Given the description of an element on the screen output the (x, y) to click on. 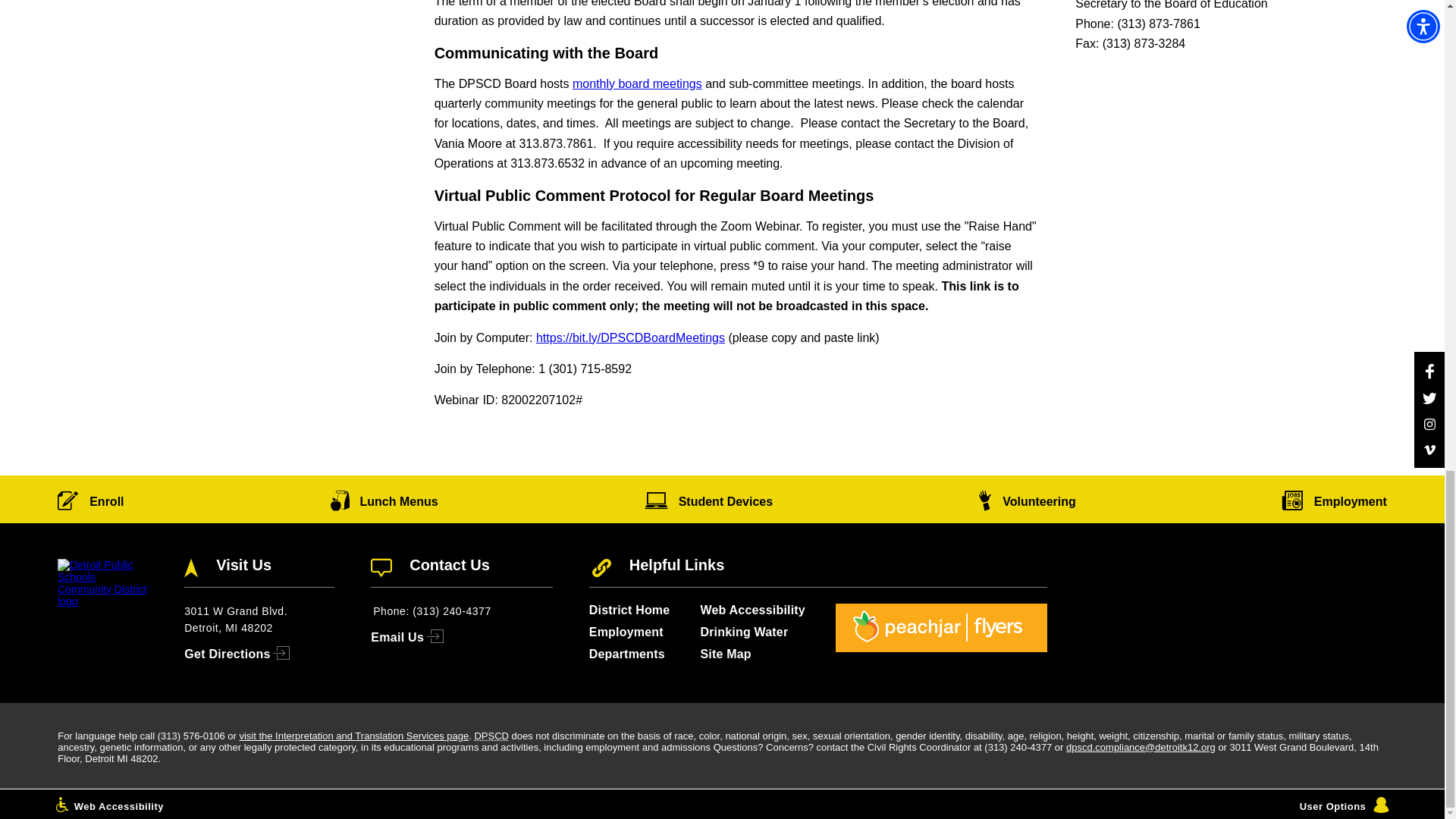
Detroit Public Schools Community District (491, 736)
